Given the description of an element on the screen output the (x, y) to click on. 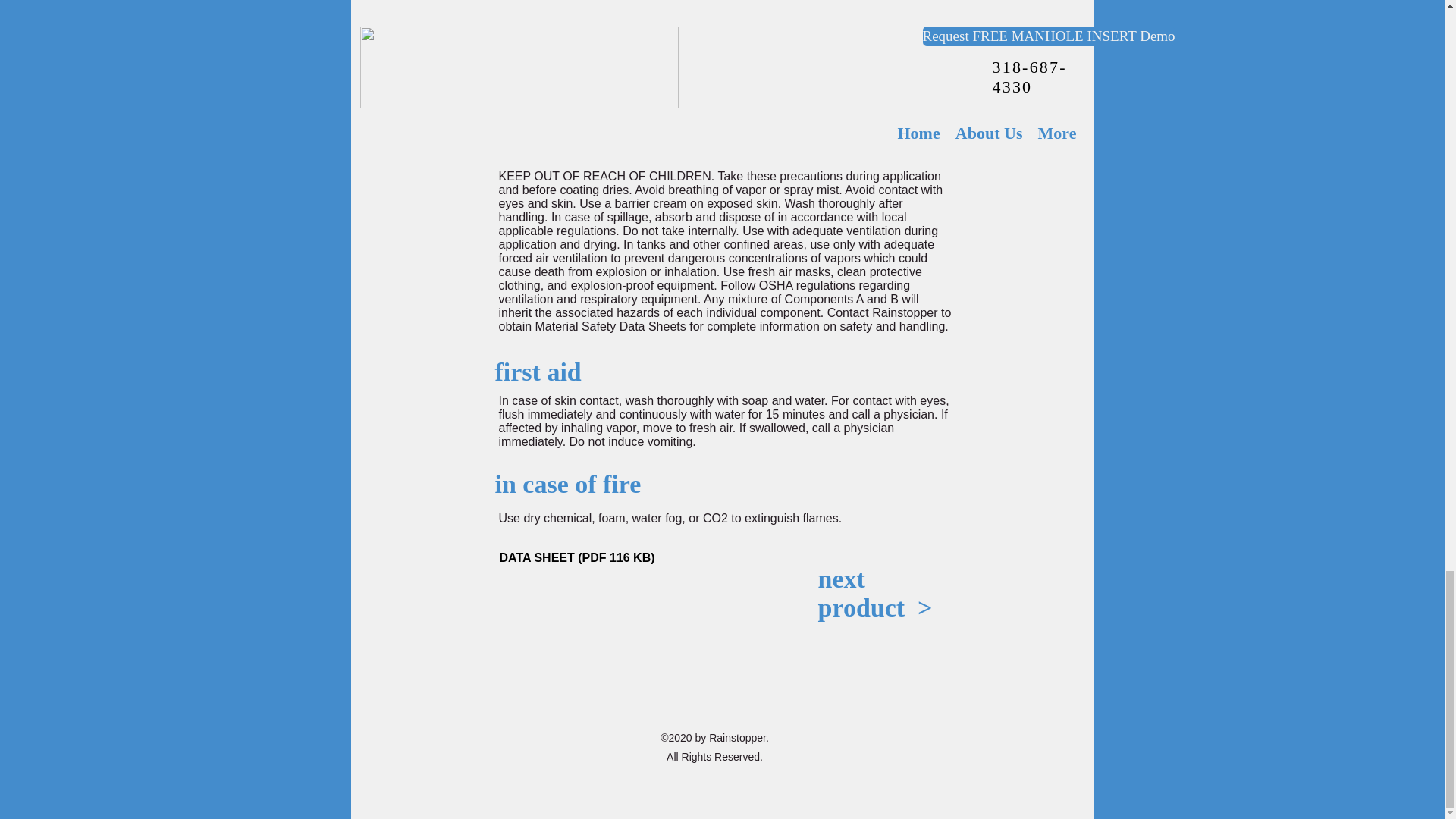
PDF 116 KB (616, 557)
